Given the description of an element on the screen output the (x, y) to click on. 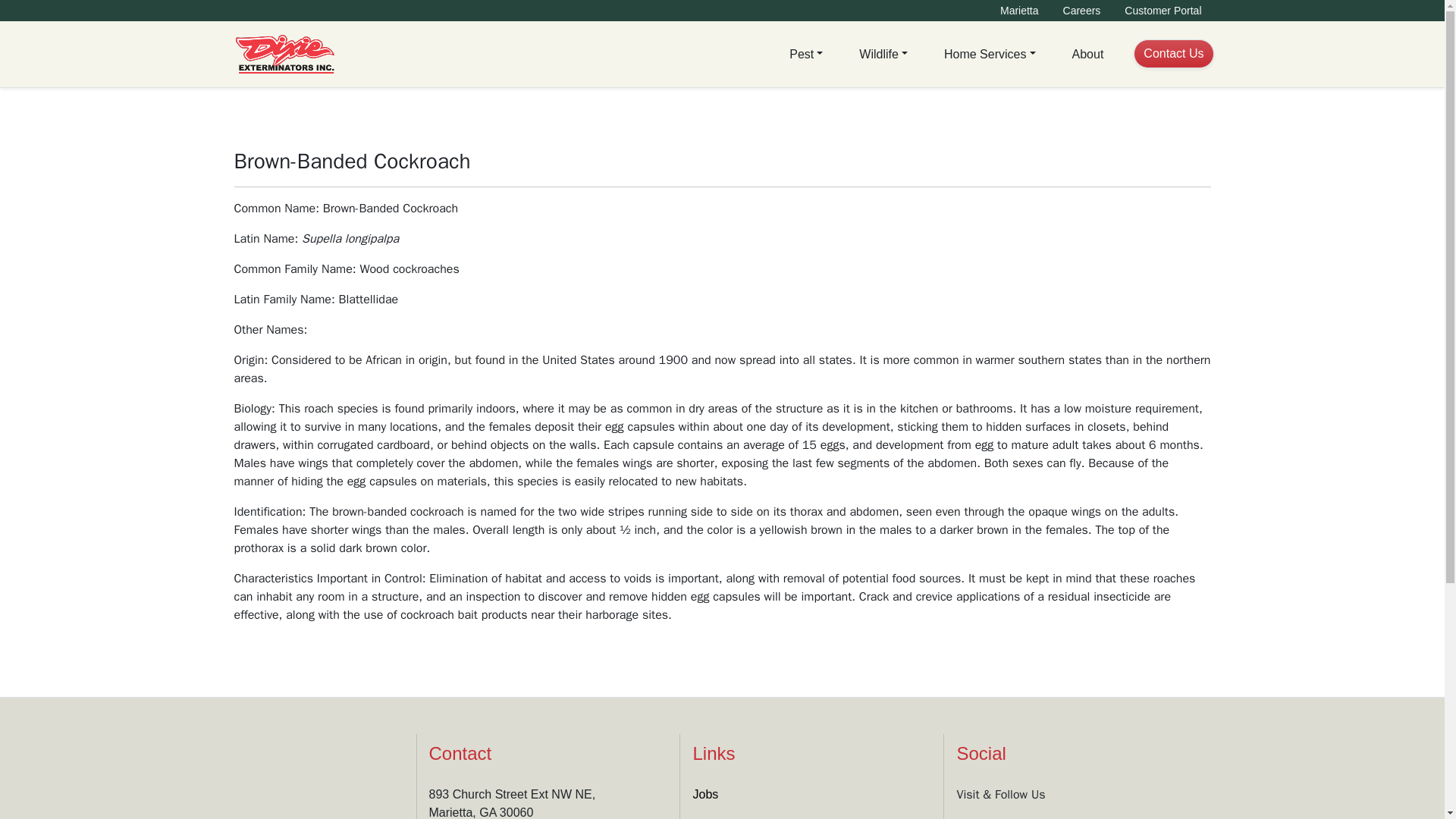
About (1087, 54)
Nextdoor Logo (1055, 817)
LinkedIn Logo (1013, 817)
Pest (805, 54)
YouTube Logo (1133, 817)
Marietta (1019, 10)
Nextdoor Logo (1053, 817)
Jobs (705, 793)
Home Services (989, 54)
Careers (1081, 10)
